Given the description of an element on the screen output the (x, y) to click on. 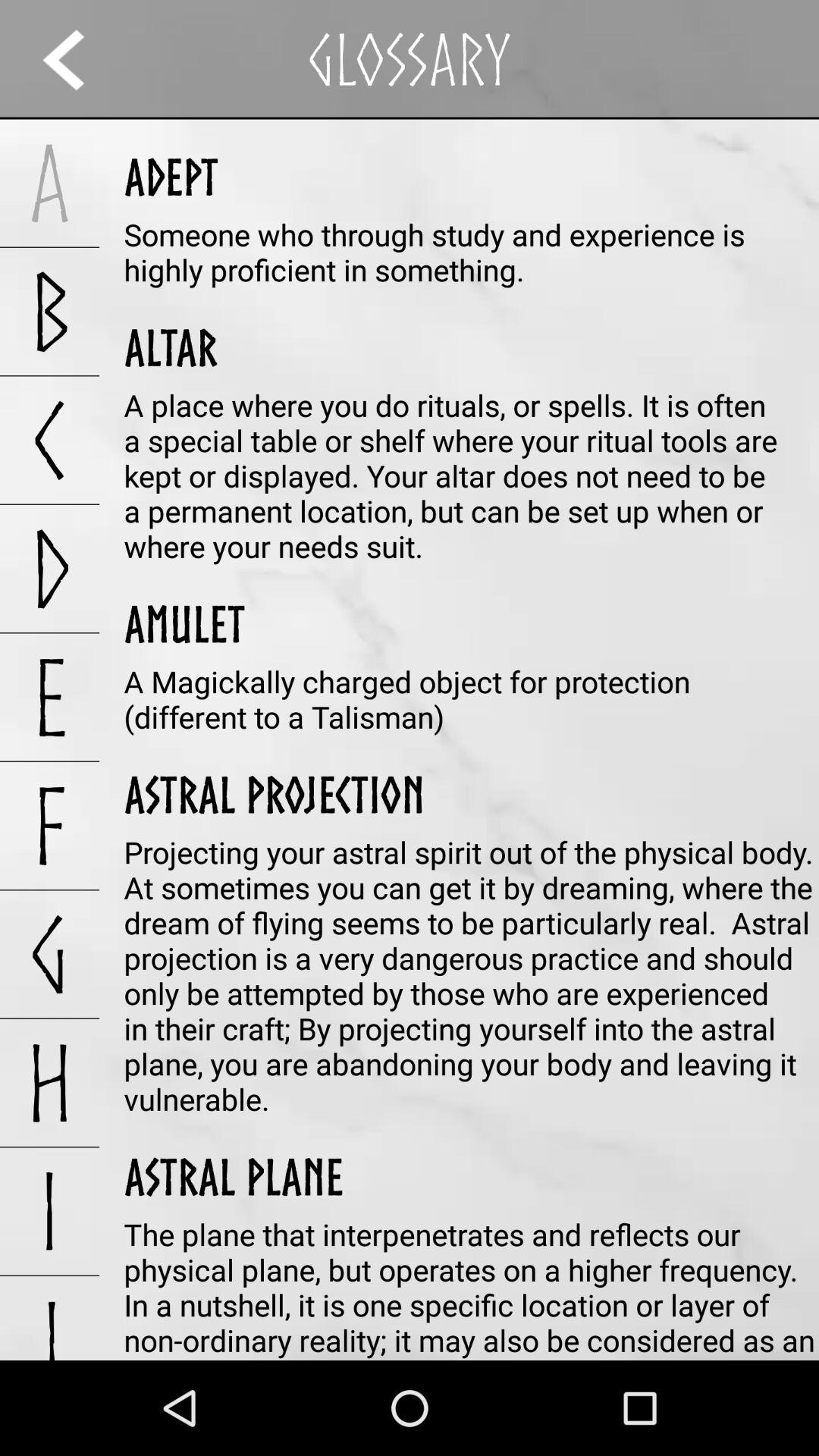
turn on the i icon (49, 1211)
